Given the description of an element on the screen output the (x, y) to click on. 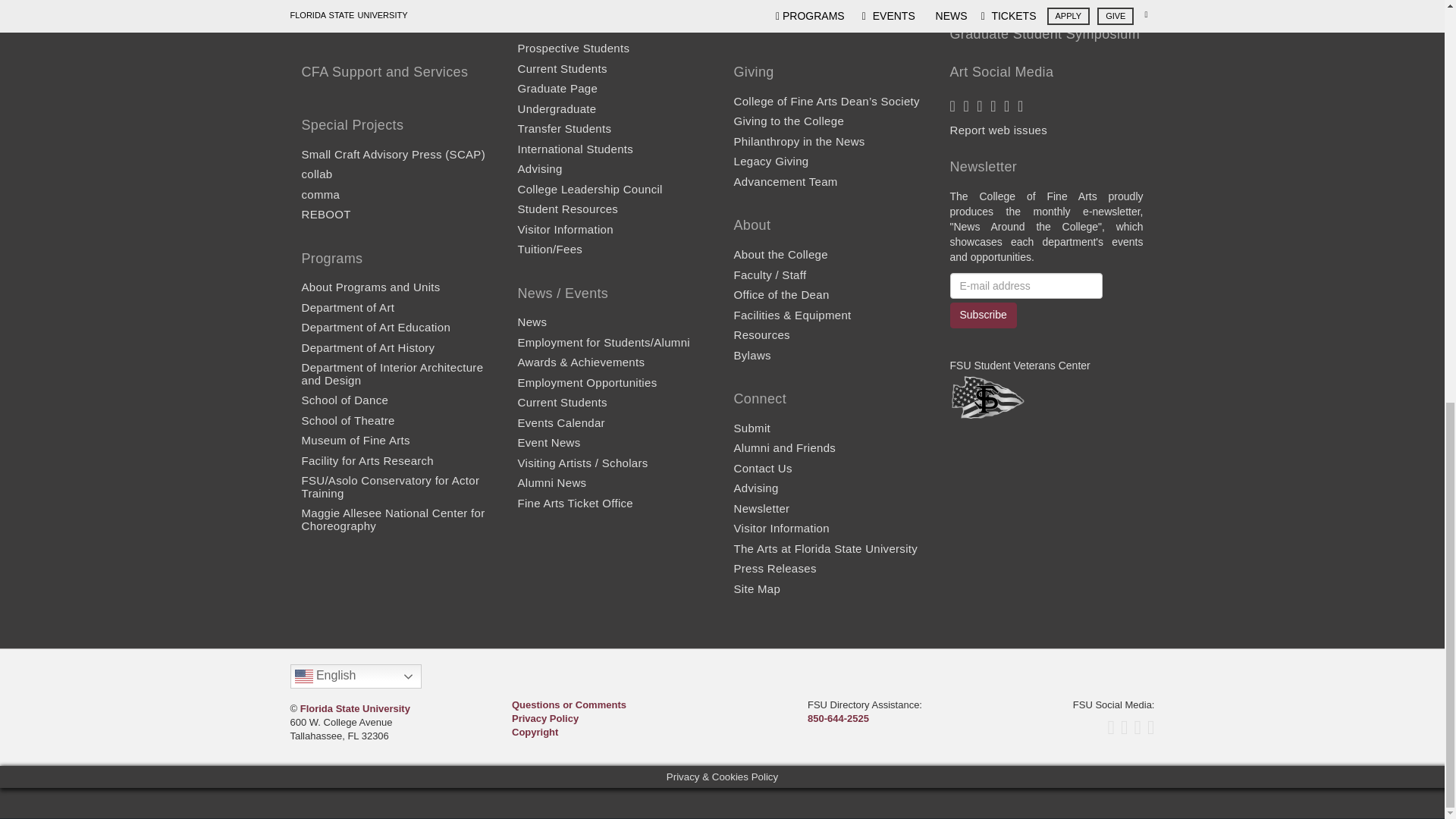
Subscribe (982, 315)
